Given the description of an element on the screen output the (x, y) to click on. 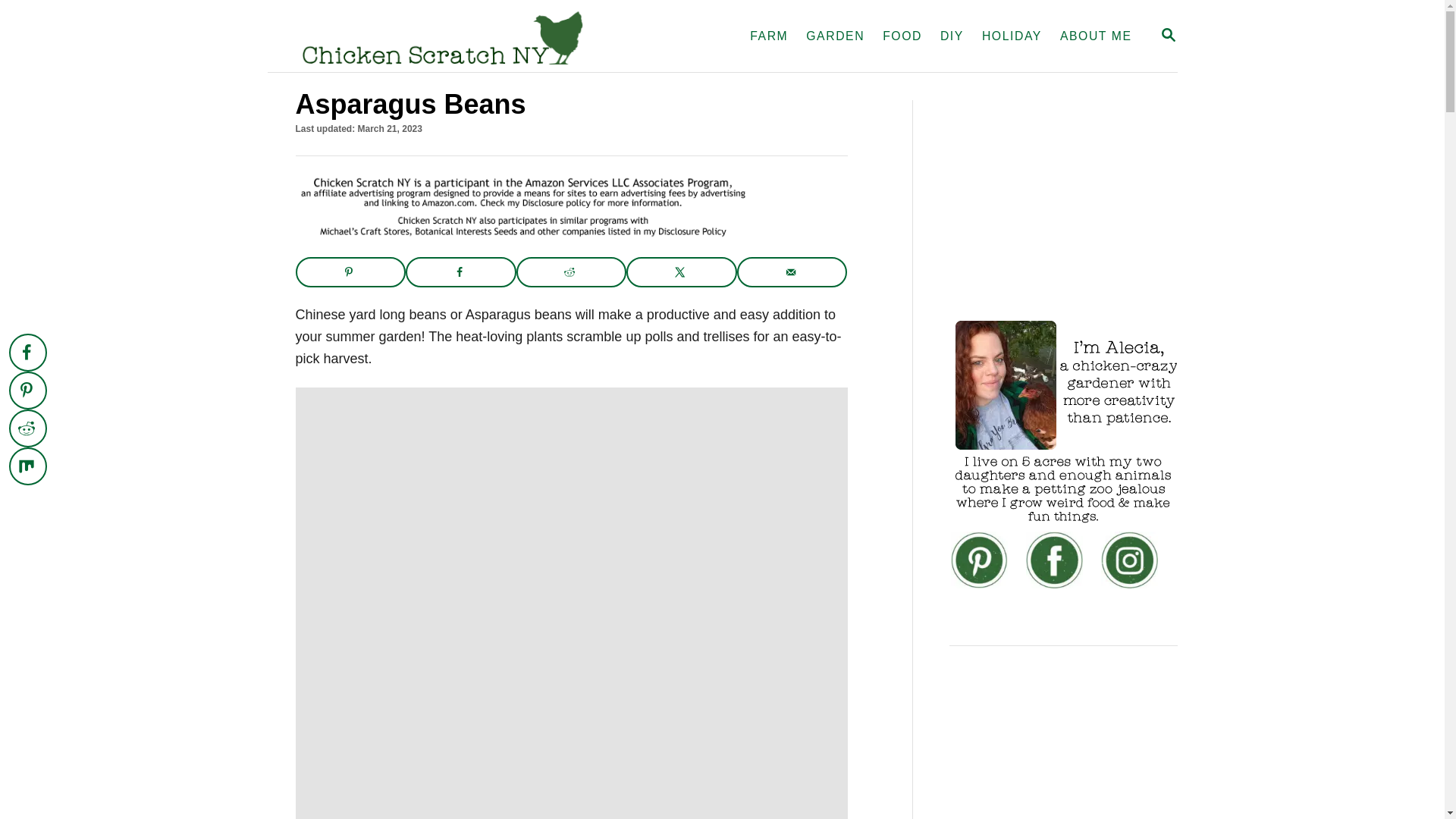
Chicken Scratch NY (441, 35)
Share on Mix (27, 466)
HOLIDAY (1011, 36)
Send over email (791, 272)
GARDEN (834, 36)
Share on Facebook (27, 352)
FARM (768, 36)
Save to Pinterest (350, 272)
Share on Facebook (461, 272)
Save to Pinterest (27, 390)
MAGNIFYING GLASS (1167, 34)
DIY (951, 36)
Share on Reddit (27, 428)
Share on X (681, 272)
FOOD (902, 36)
